Given the description of an element on the screen output the (x, y) to click on. 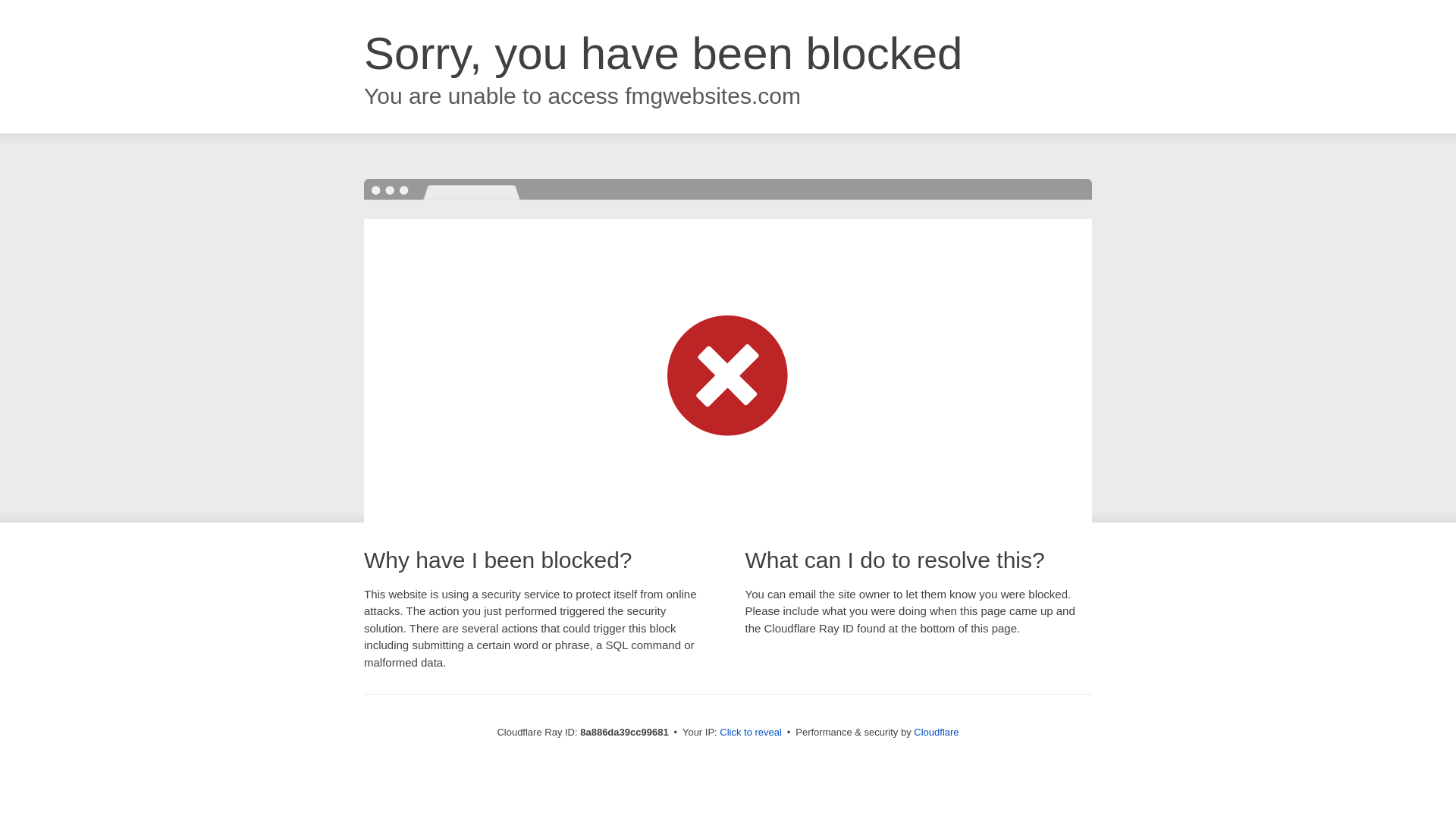
Click to reveal (750, 732)
Cloudflare (936, 731)
